Given the description of an element on the screen output the (x, y) to click on. 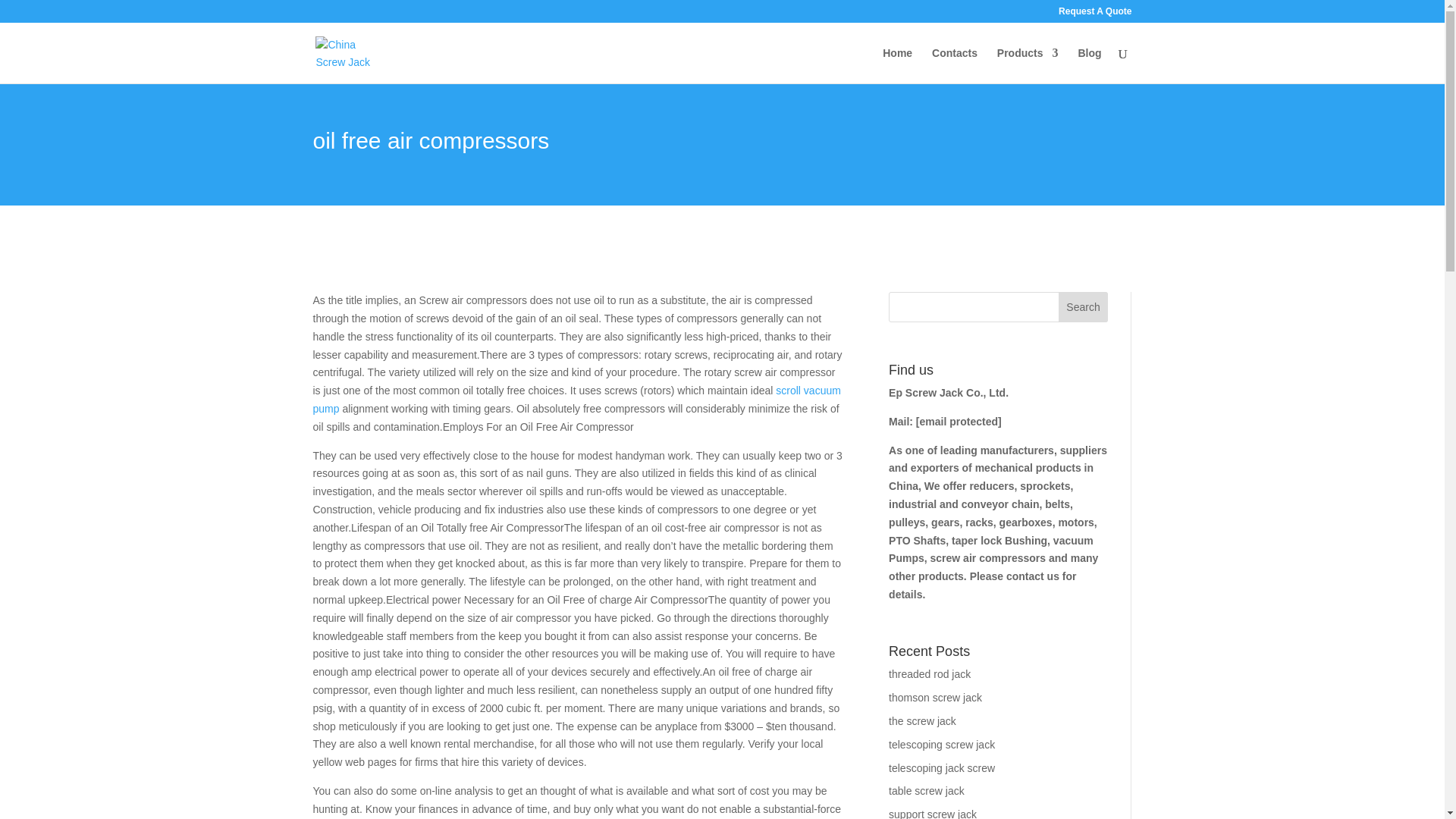
scroll vacuum pump (576, 399)
Search (1083, 306)
the screw jack (922, 720)
telescoping jack screw (941, 767)
Contacts (953, 65)
threaded rod jack (929, 674)
support screw jack (932, 813)
Search (1083, 306)
telescoping screw jack (941, 744)
table screw jack (925, 790)
